Given the description of an element on the screen output the (x, y) to click on. 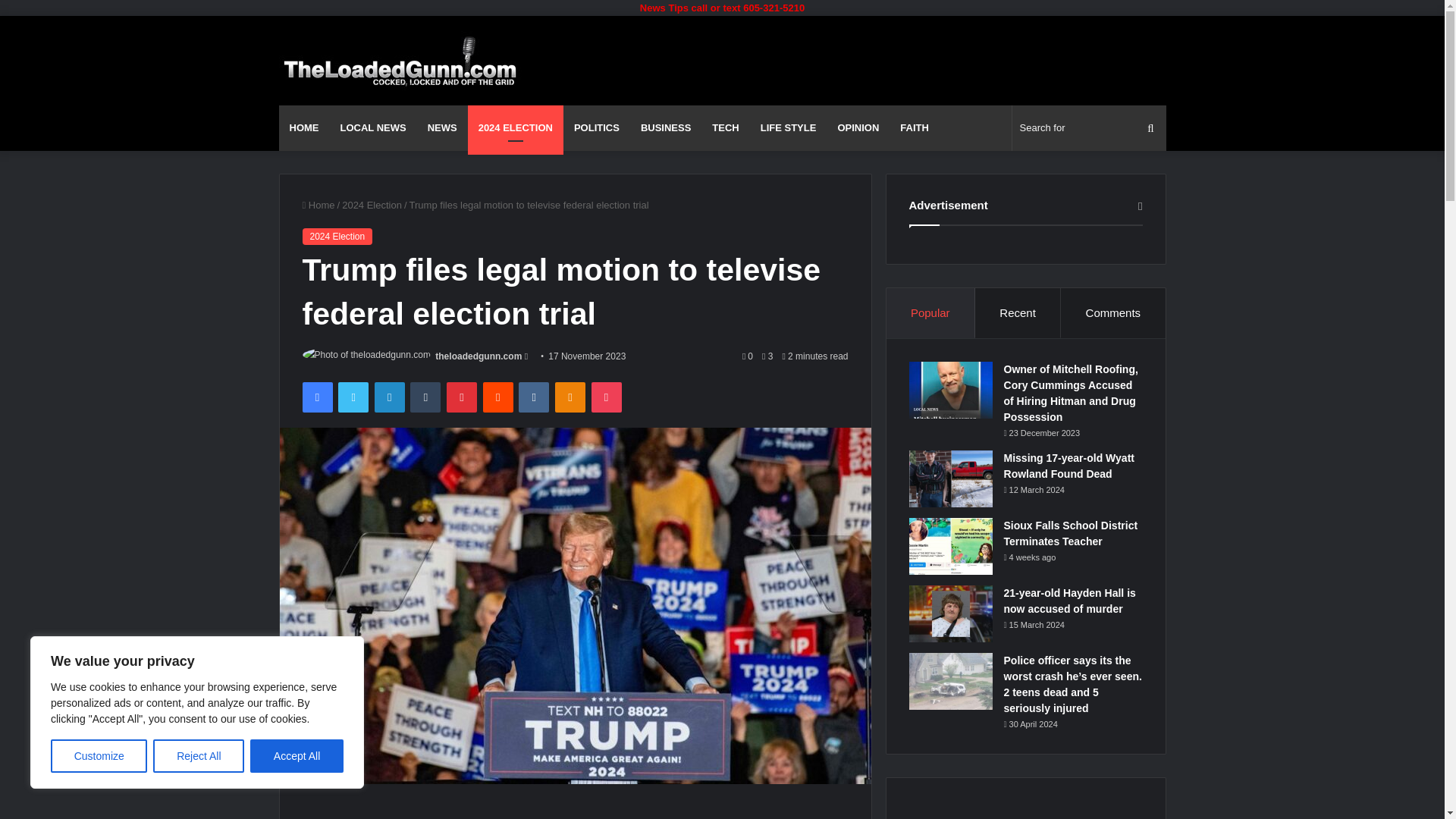
Twitter (352, 397)
VKontakte (533, 397)
Odnoklassniki (569, 397)
Facebook (316, 397)
2024 Election (336, 236)
OPINION (858, 127)
2024 ELECTION (515, 127)
theloadedgunn.com (478, 356)
The Loaded Gunn (400, 60)
Reddit (498, 397)
